Given the description of an element on the screen output the (x, y) to click on. 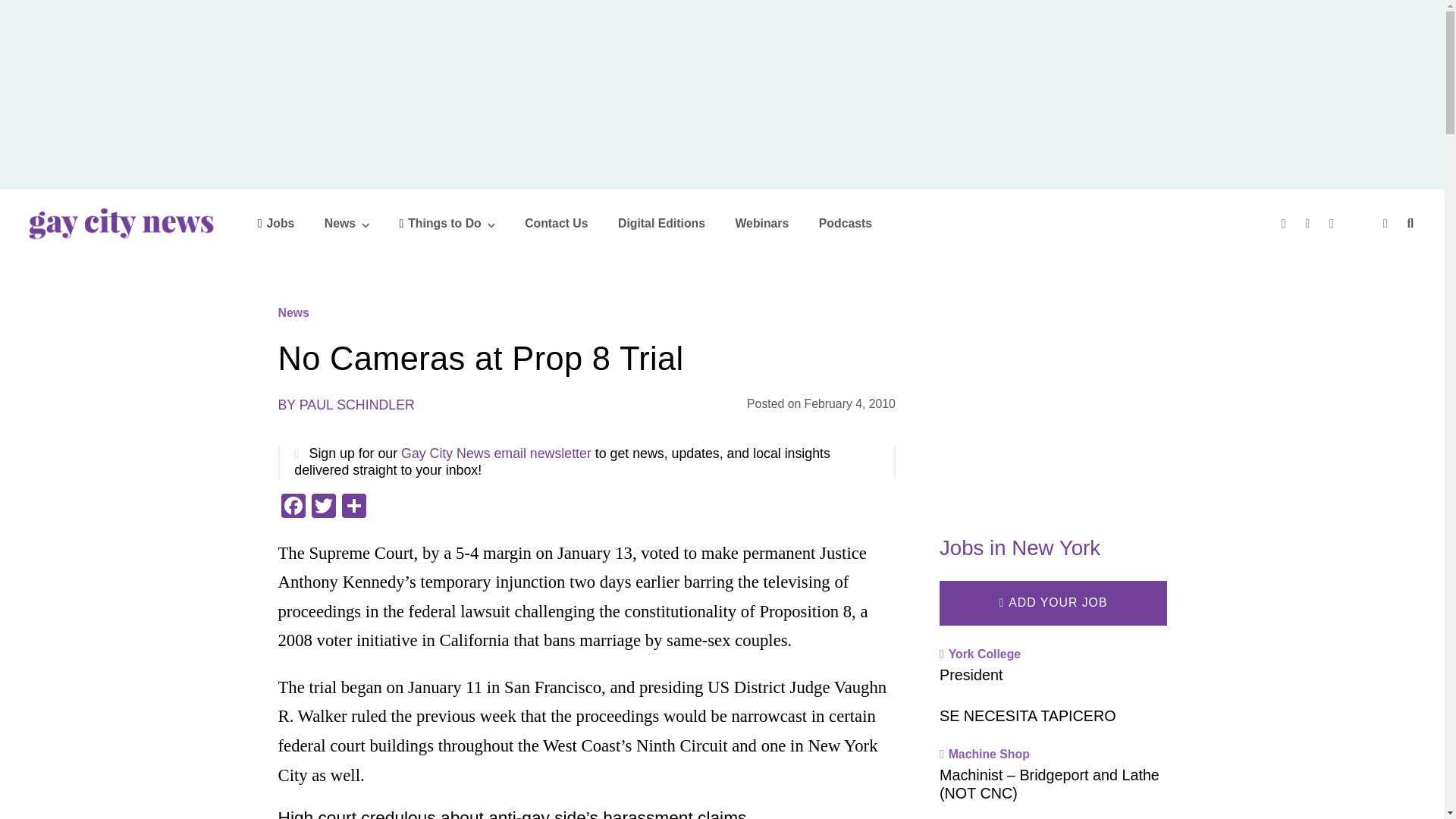
Podcasts (845, 223)
Jobs (276, 223)
Webinars (762, 223)
Things to Do (446, 223)
Digital Editions (660, 223)
Facebook (292, 507)
News (346, 223)
Twitter (322, 507)
Contact Us (556, 223)
